Given the description of an element on the screen output the (x, y) to click on. 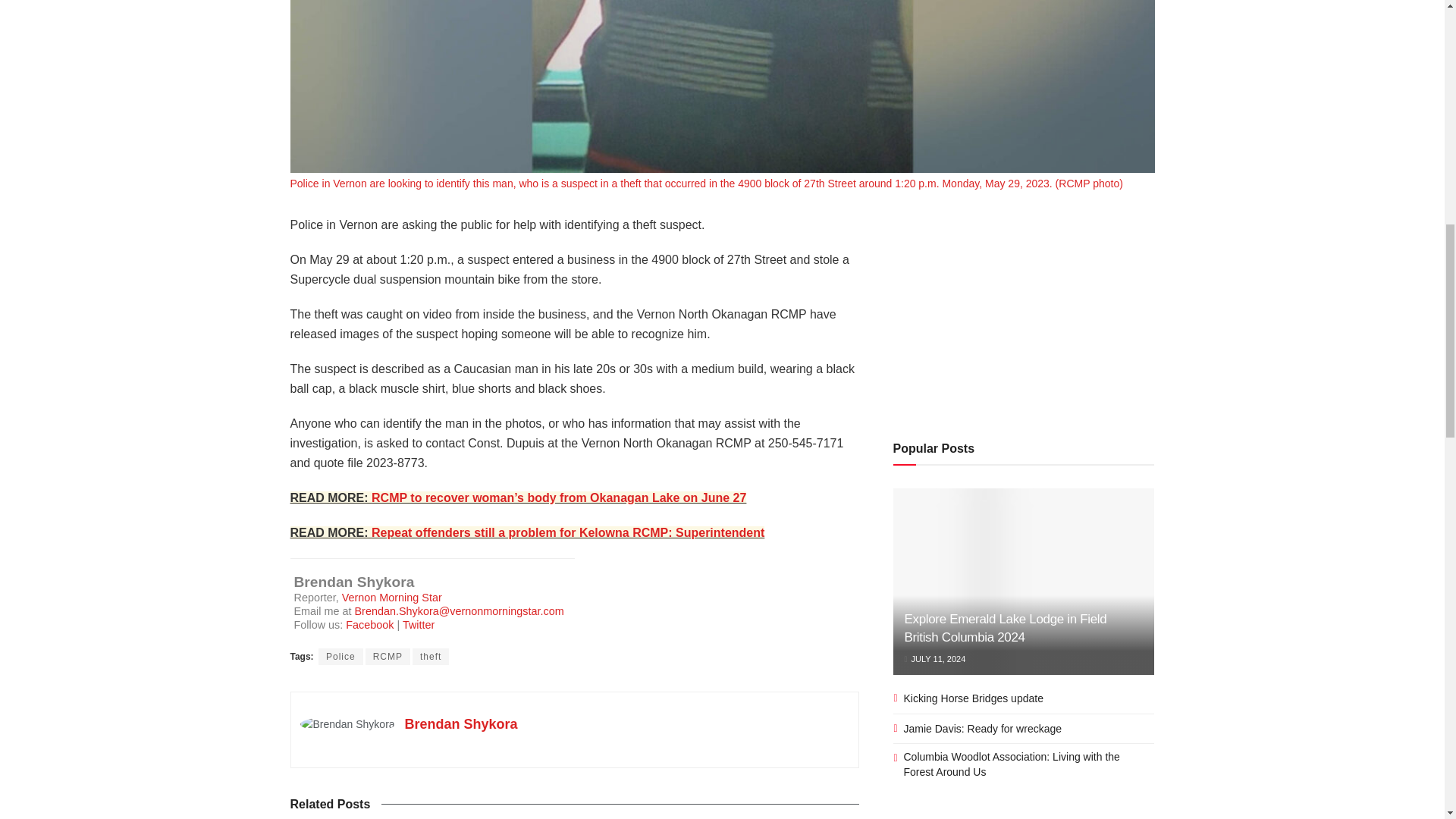
3rd party ad content (1023, 309)
Vernon Morning Star (392, 597)
